Given the description of an element on the screen output the (x, y) to click on. 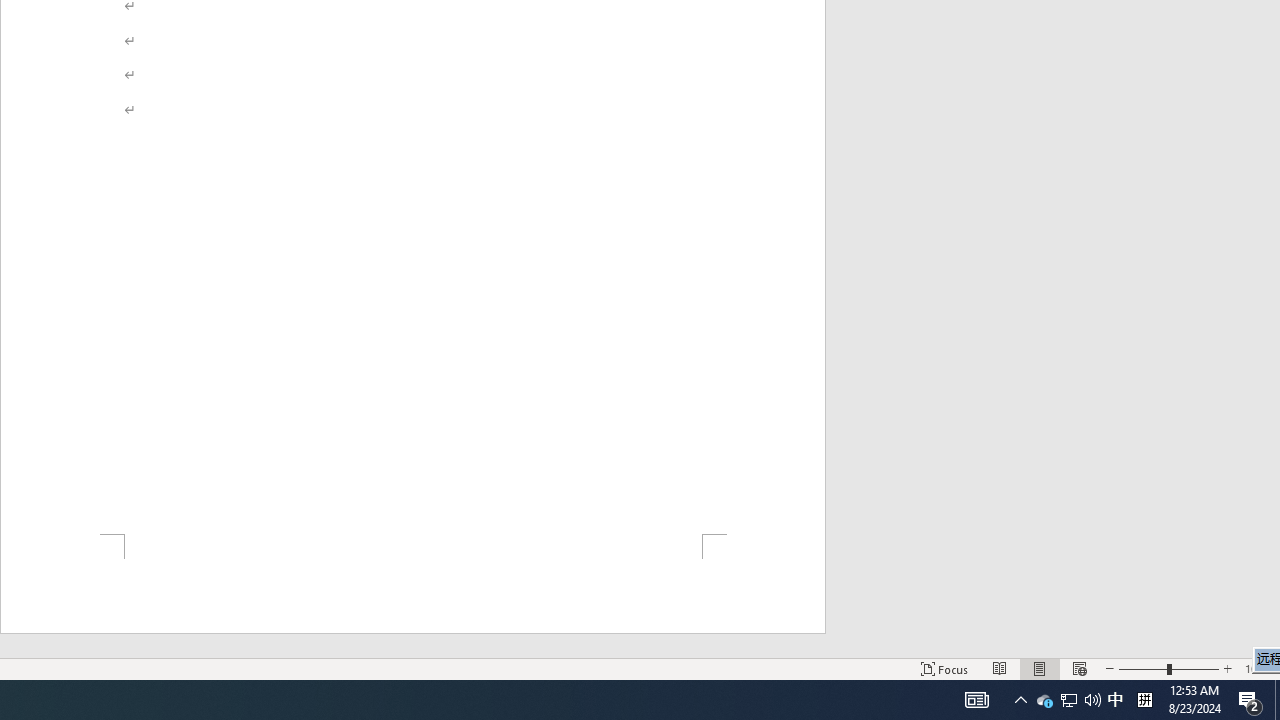
Zoom 104% (1258, 668)
Print Layout (1039, 668)
Zoom In (1227, 668)
Zoom (1168, 668)
Zoom Out (1142, 668)
Focus  (944, 668)
Web Layout (1079, 668)
Read Mode (1000, 668)
